Given the description of an element on the screen output the (x, y) to click on. 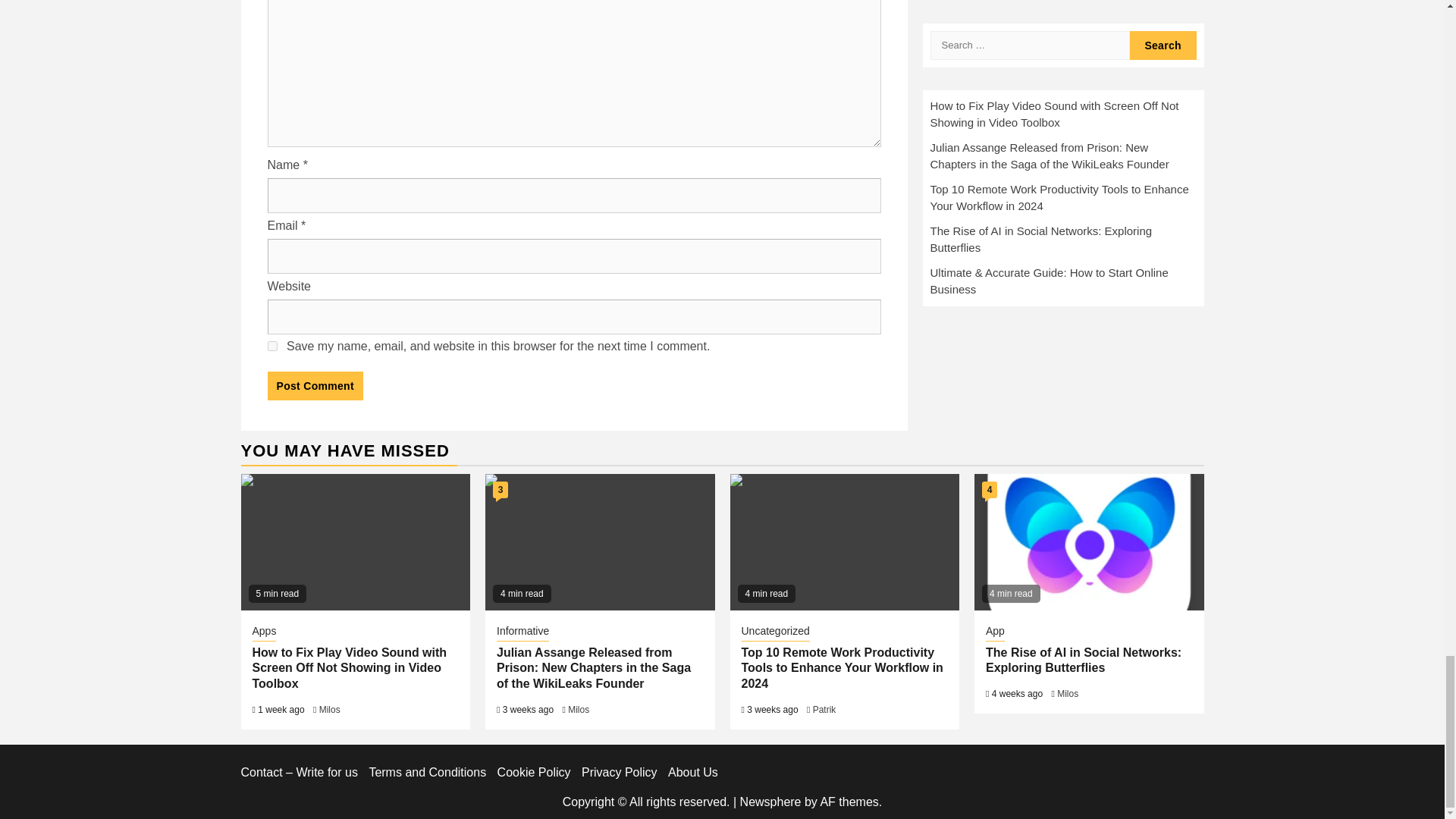
Post Comment (314, 385)
yes (271, 346)
